Given the description of an element on the screen output the (x, y) to click on. 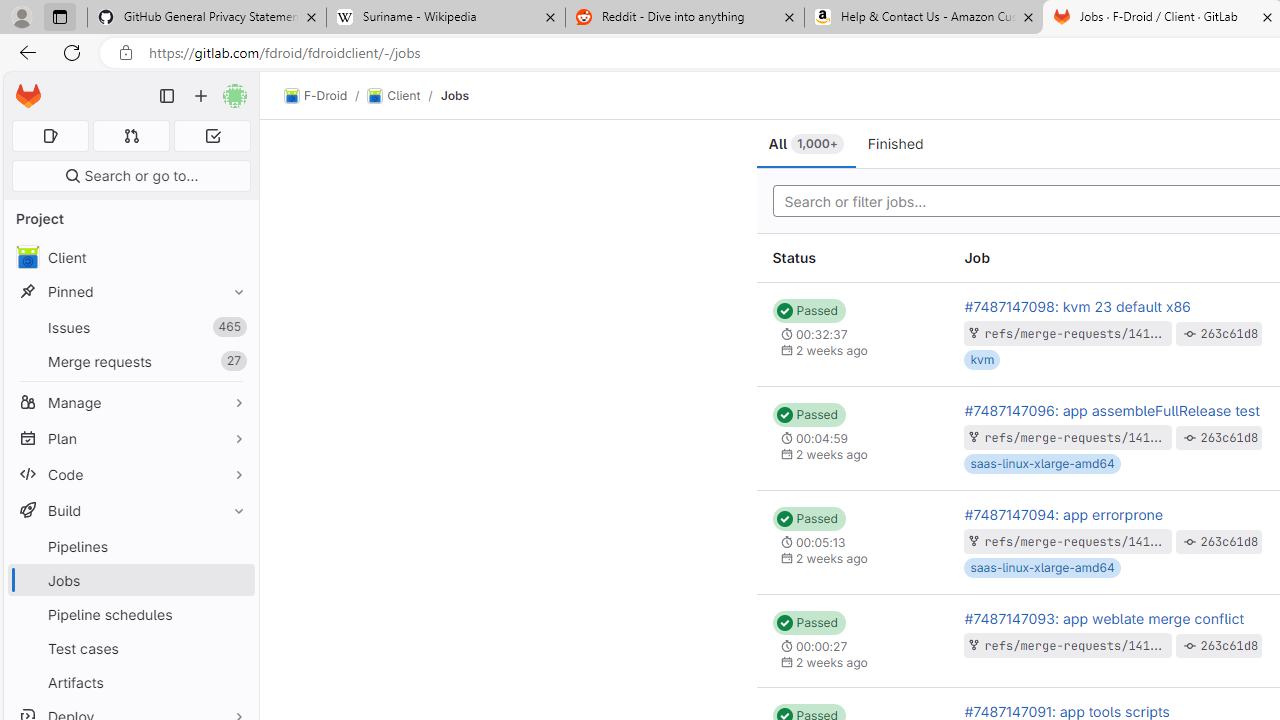
Pipeline schedules (130, 614)
Pipeline schedules (130, 614)
Plan (130, 438)
Build (130, 510)
Pin Test cases (234, 647)
GitHub General Privacy Statement - GitHub Docs (207, 17)
Jobs (454, 95)
Issues465 (130, 327)
Client (394, 96)
Test cases (130, 648)
Client/ (404, 96)
Status: Passed 00:00:27 2 weeks ago (852, 641)
To-Do list 0 (212, 136)
